Given the description of an element on the screen output the (x, y) to click on. 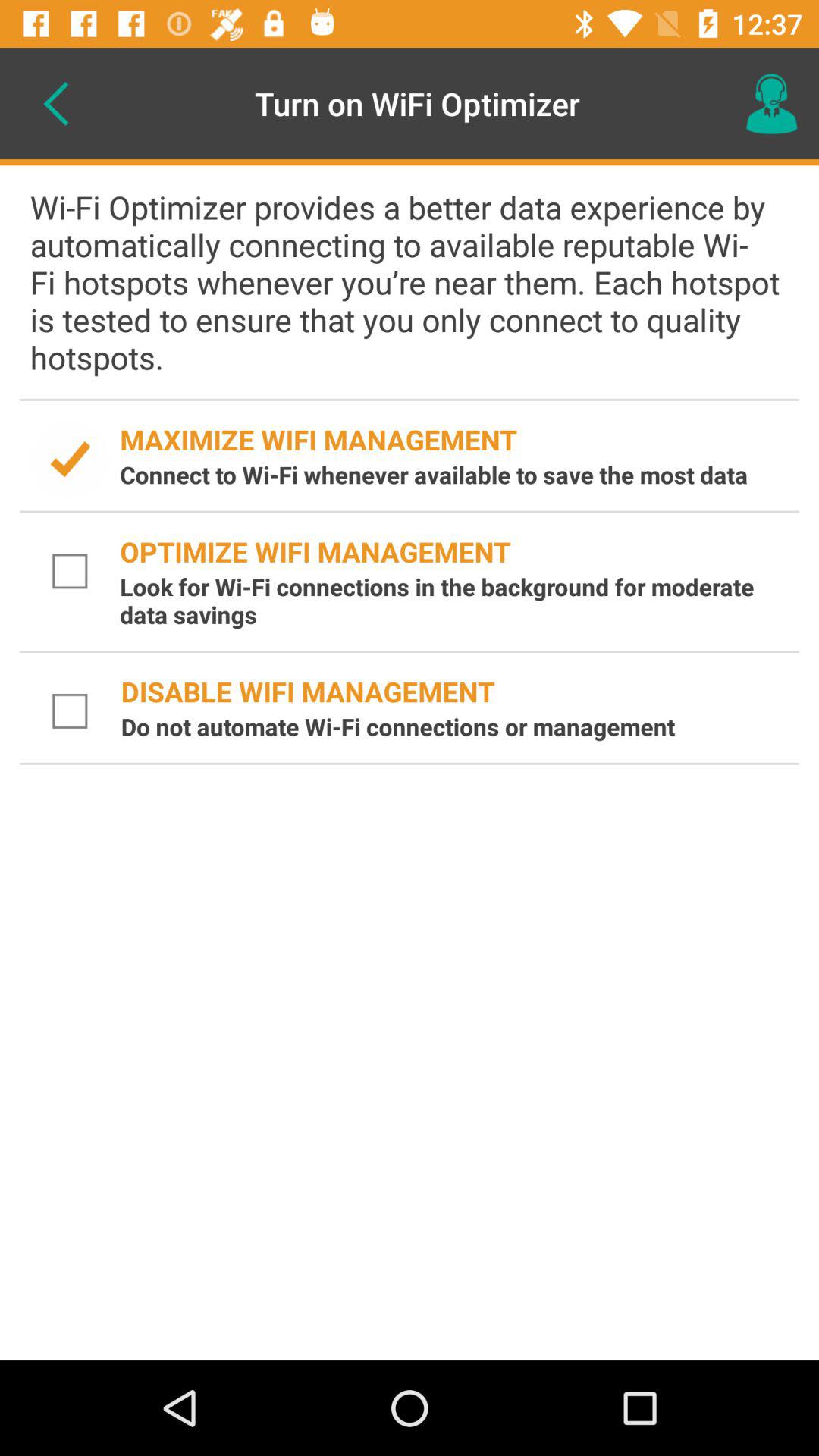
toggle maximize wifi management option (69, 459)
